Given the description of an element on the screen output the (x, y) to click on. 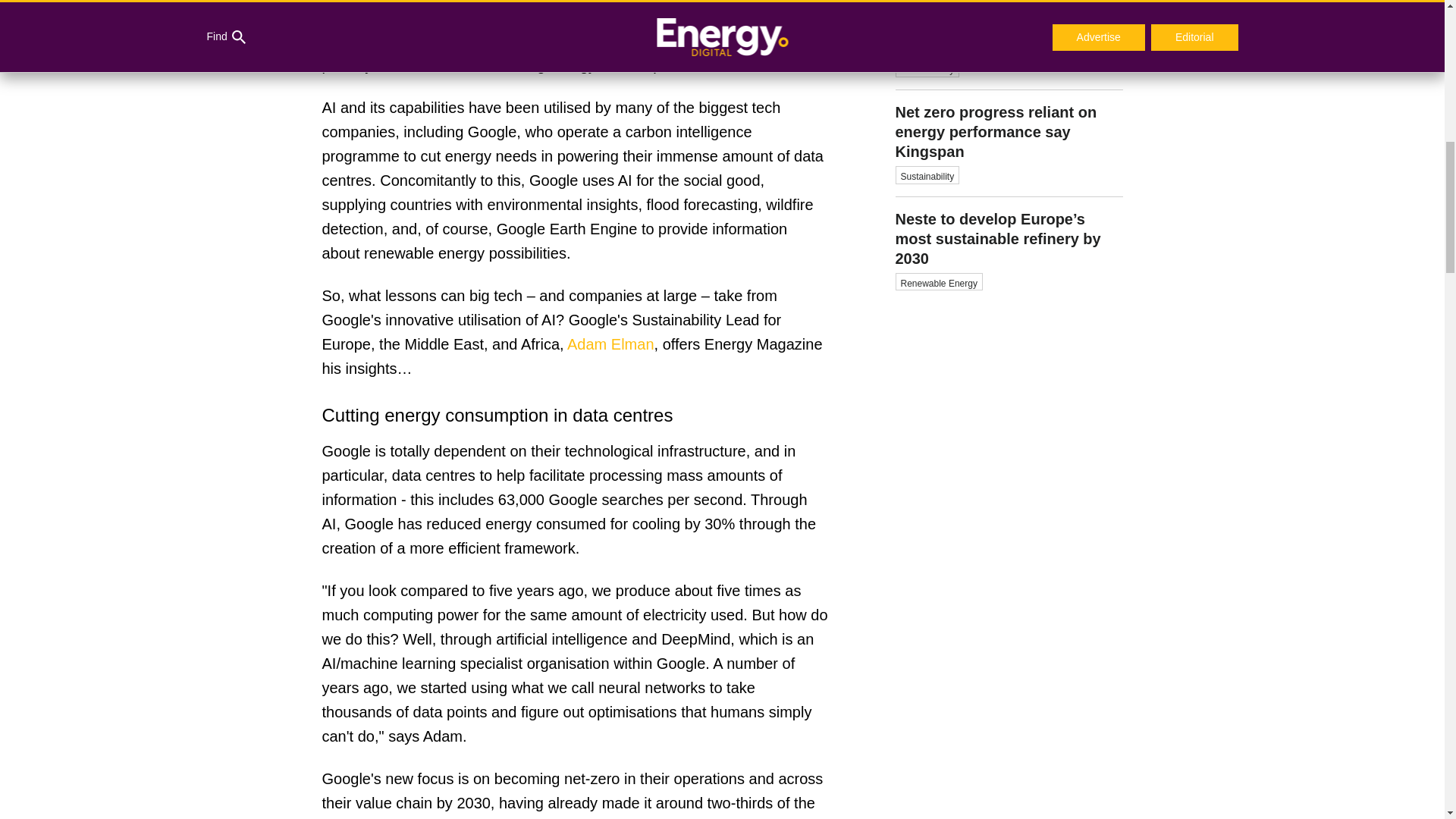
Adam Elman (1008, 1)
